Given the description of an element on the screen output the (x, y) to click on. 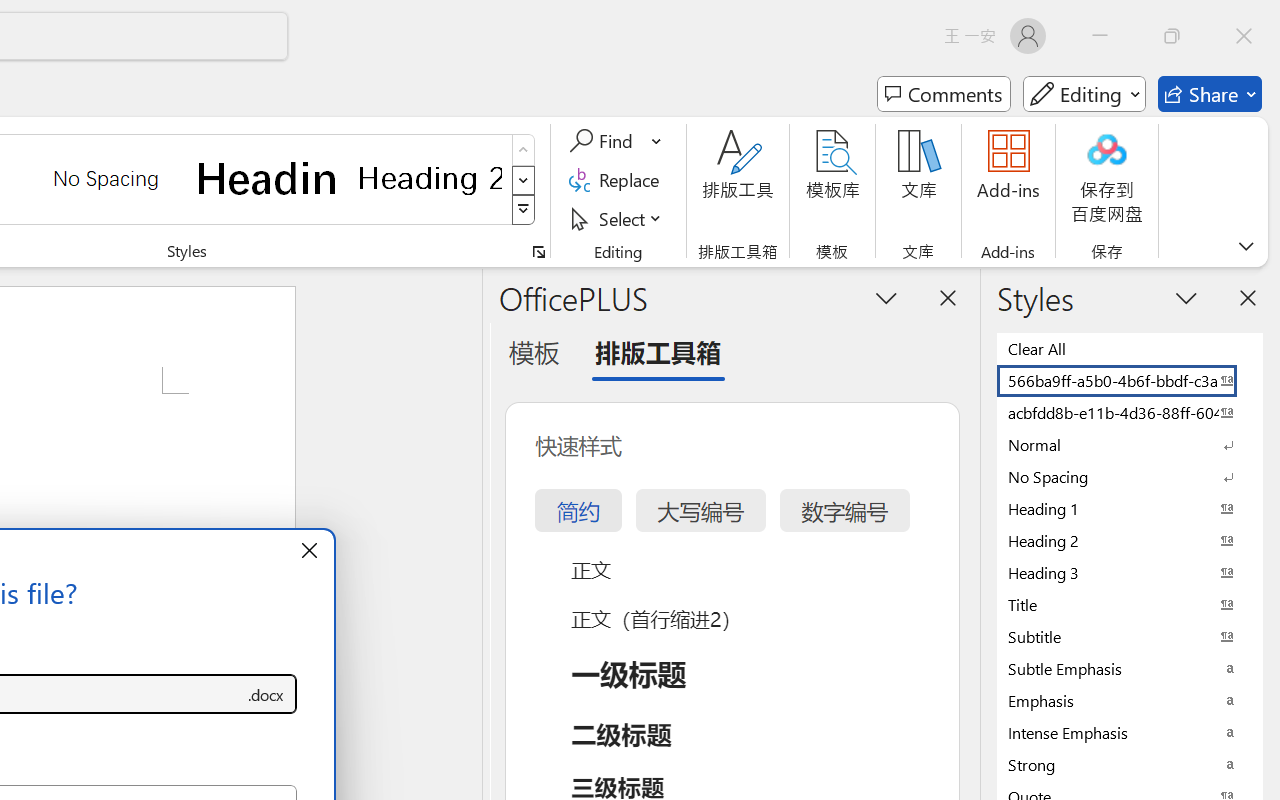
Ribbon Display Options (1246, 245)
Restore Down (1172, 36)
Strong (1130, 764)
No Spacing (1130, 476)
Task Pane Options (886, 297)
Share (1210, 94)
Title (1130, 604)
Find (616, 141)
Emphasis (1130, 700)
Styles (523, 209)
Close (1244, 36)
Normal (1130, 444)
Replace... (617, 179)
